Given the description of an element on the screen output the (x, y) to click on. 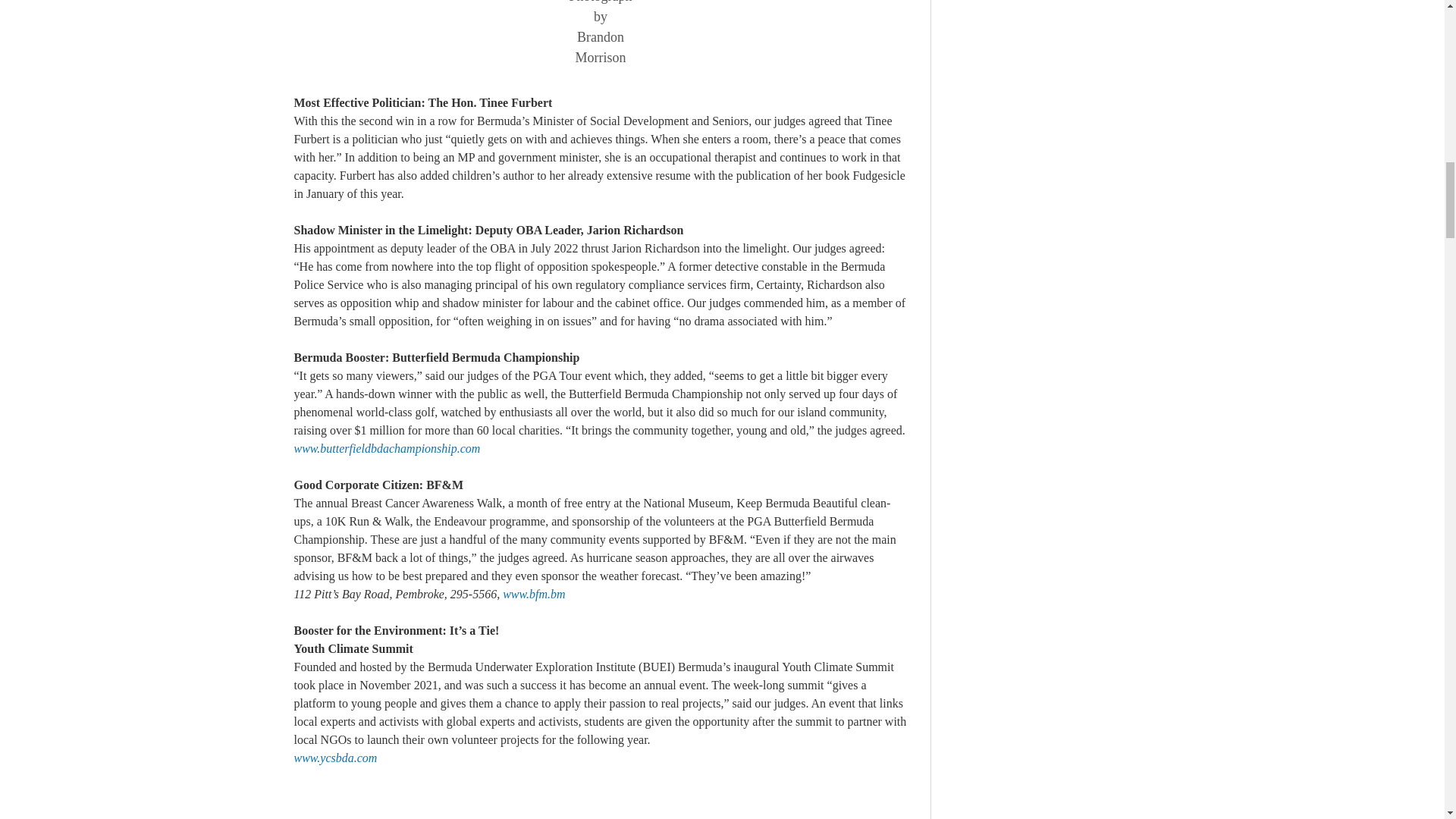
www.butterfieldbdachampionship.com (387, 448)
www.ycsbda.com (335, 757)
www.bfm.bm (533, 594)
